Given the description of an element on the screen output the (x, y) to click on. 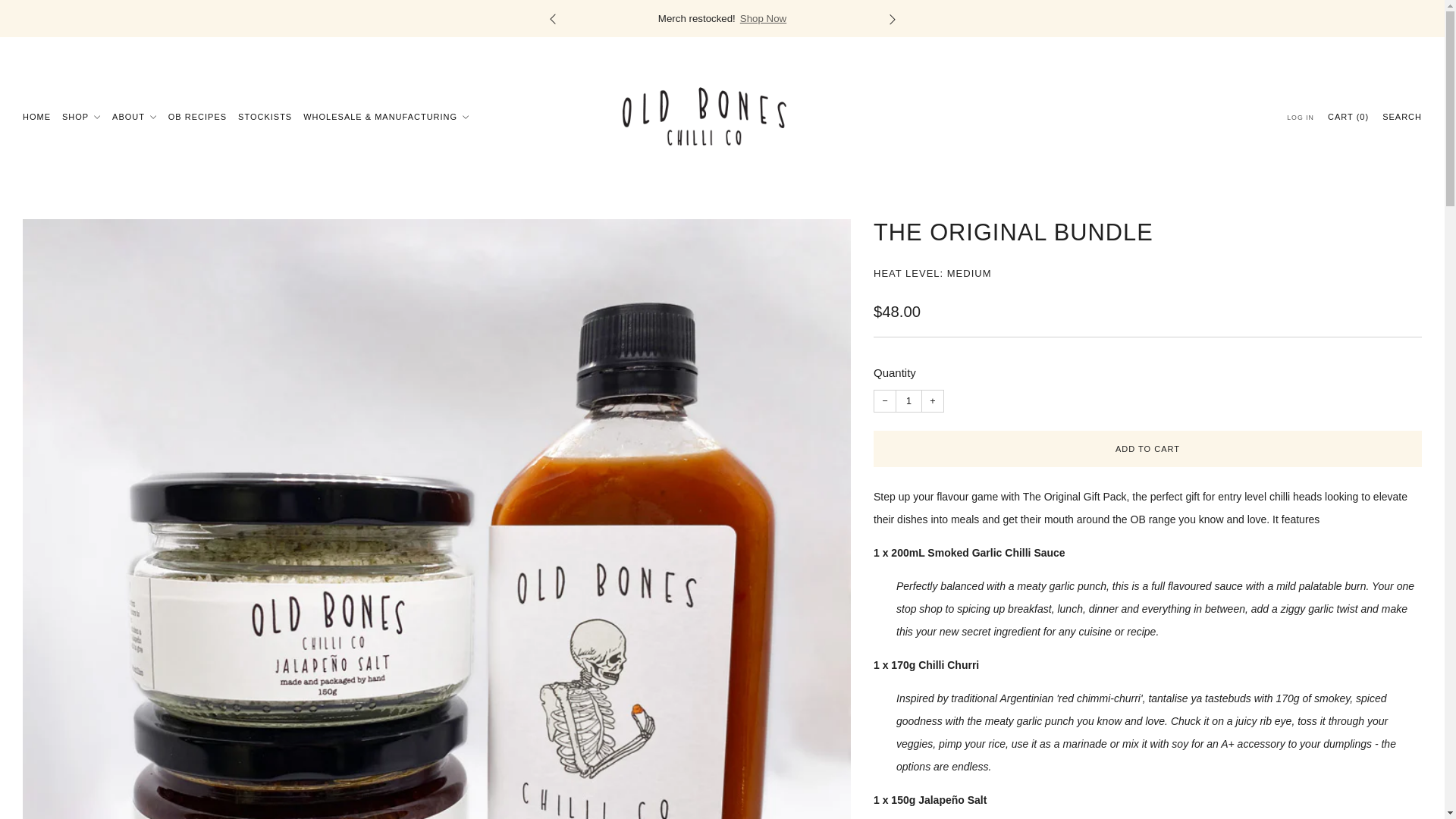
STOCKISTS (265, 116)
SHOP (81, 116)
OB RECIPES (197, 116)
LOG IN (1300, 116)
ABOUT (134, 116)
1 (908, 400)
HOME (36, 116)
SEARCH (1401, 116)
Shop Now (762, 18)
